Given the description of an element on the screen output the (x, y) to click on. 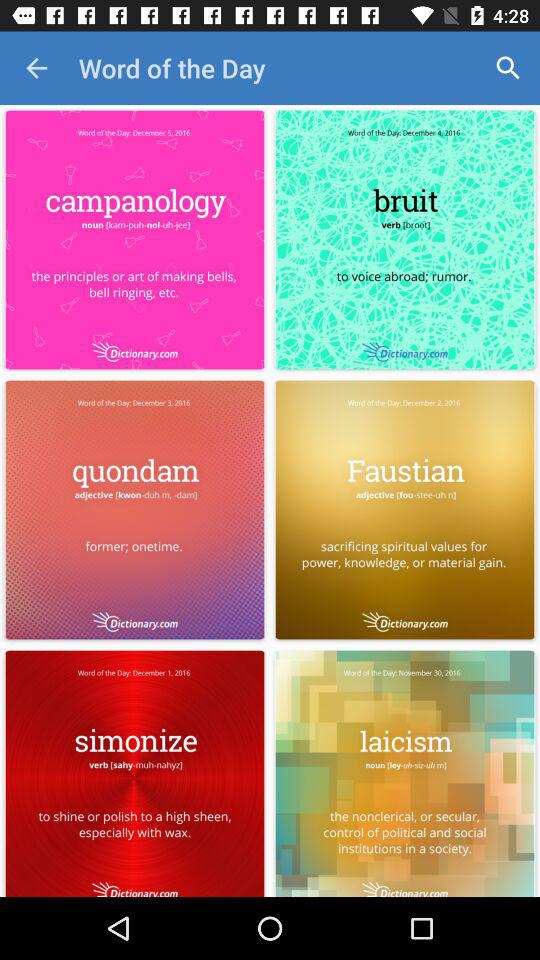
turn off the app next to word of the icon (508, 67)
